Given the description of an element on the screen output the (x, y) to click on. 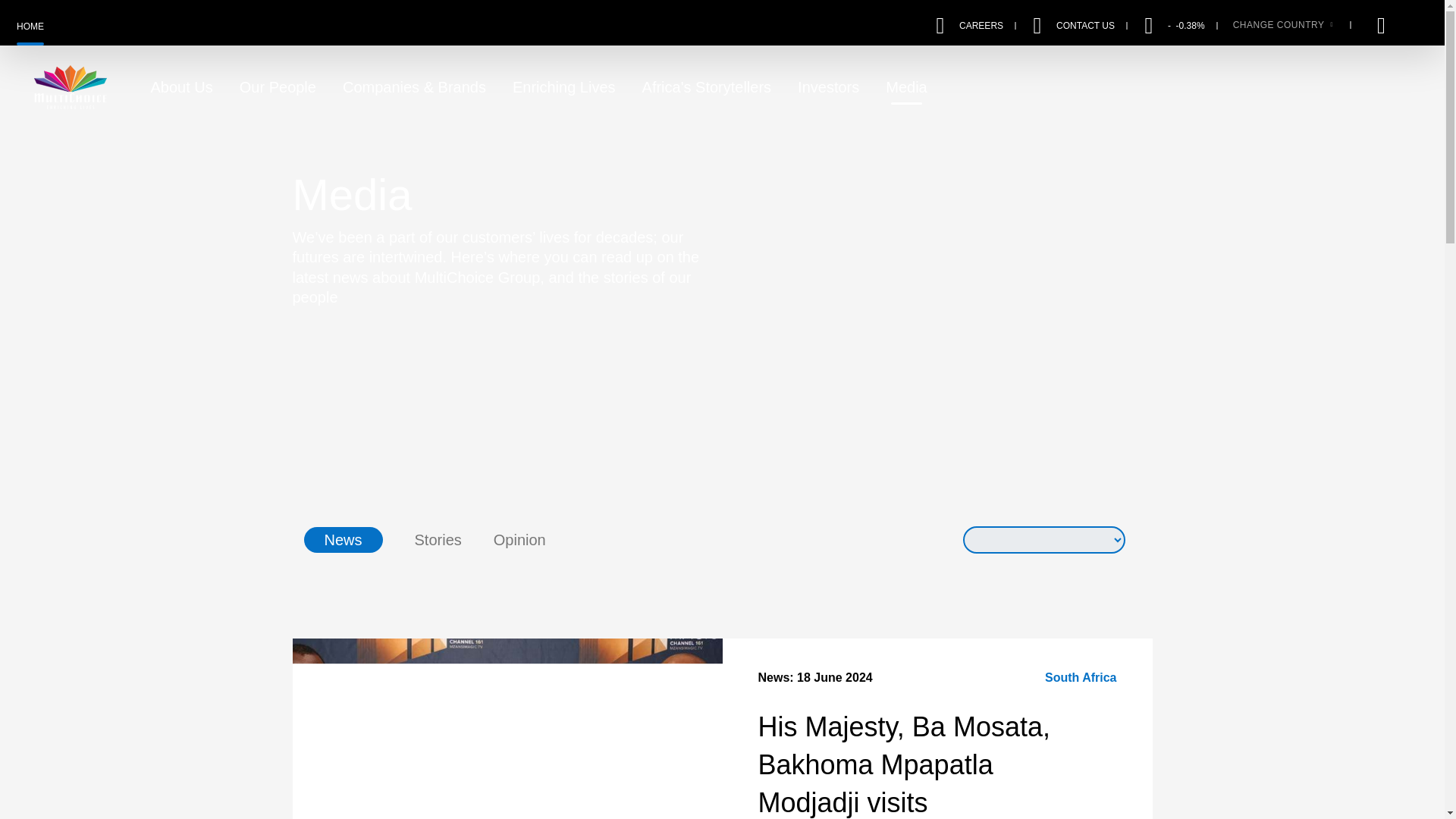
News (341, 539)
CONTACT US (1086, 24)
About Us (180, 86)
Media (905, 86)
HOME (29, 25)
Africa'S Storytellers (706, 86)
Our People (277, 86)
CHANGE COUNTRY (1282, 24)
CAREERS (981, 24)
